Given the description of an element on the screen output the (x, y) to click on. 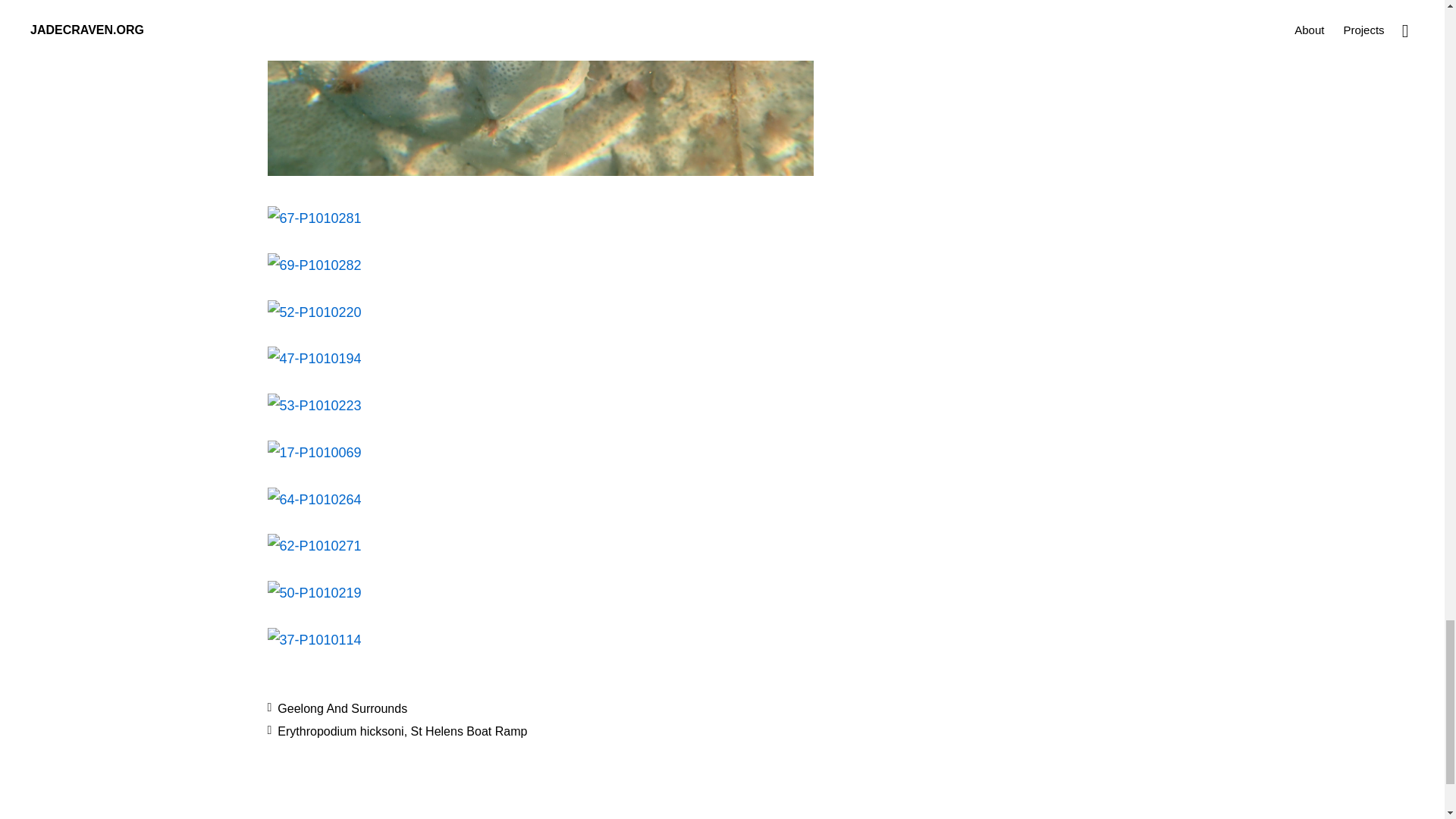
68-P1010284 (539, 171)
64-P1010264 (313, 499)
69-P1010282 (313, 264)
67-P1010281 (313, 218)
Erythropodium hicksoni (340, 730)
52-P1010220 (313, 312)
17-P1010069 (313, 452)
53-P1010223 (313, 405)
Geelong And Surrounds (342, 707)
St Helens Boat Ramp (468, 730)
